Given the description of an element on the screen output the (x, y) to click on. 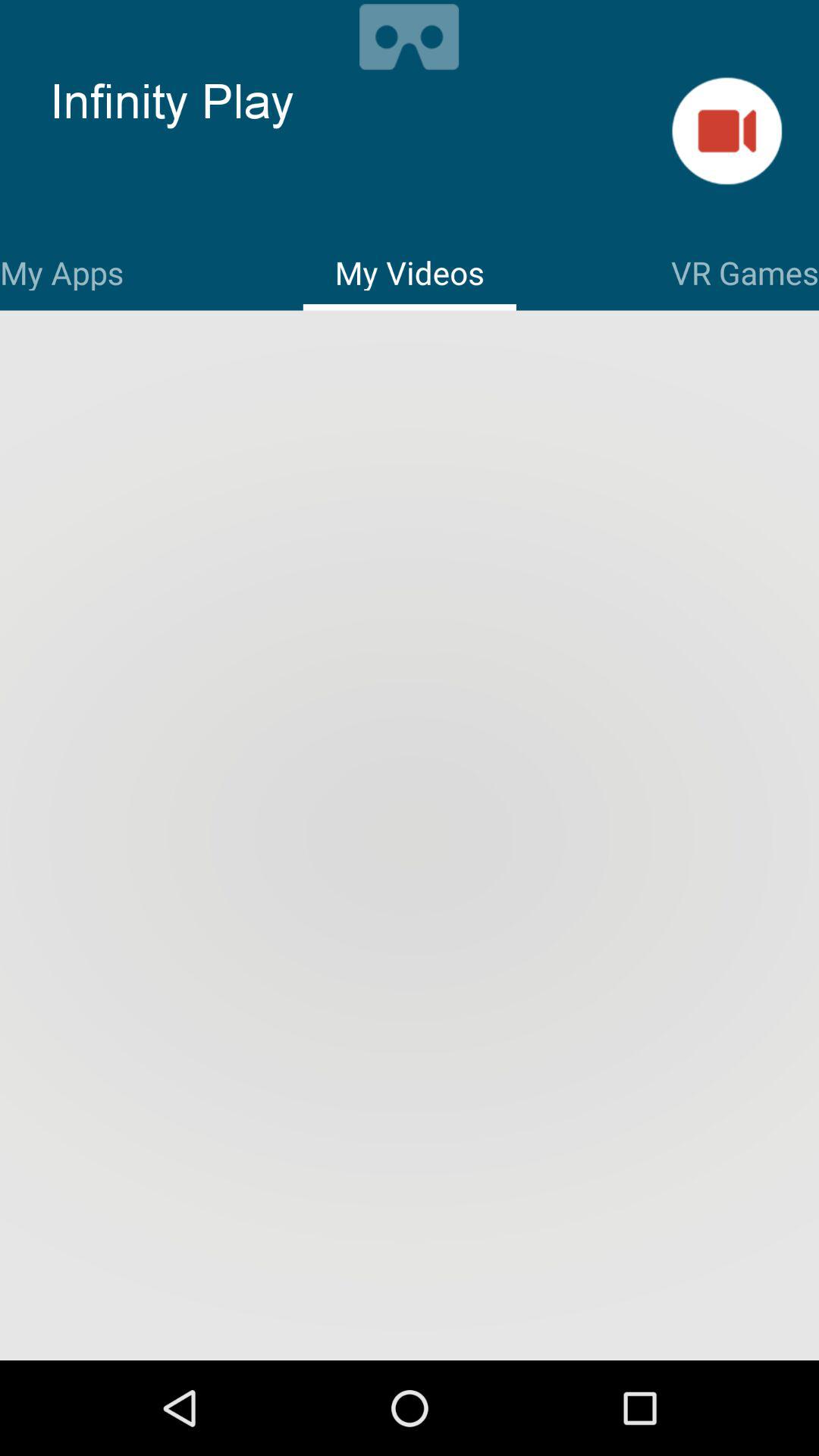
start recording (726, 130)
